Given the description of an element on the screen output the (x, y) to click on. 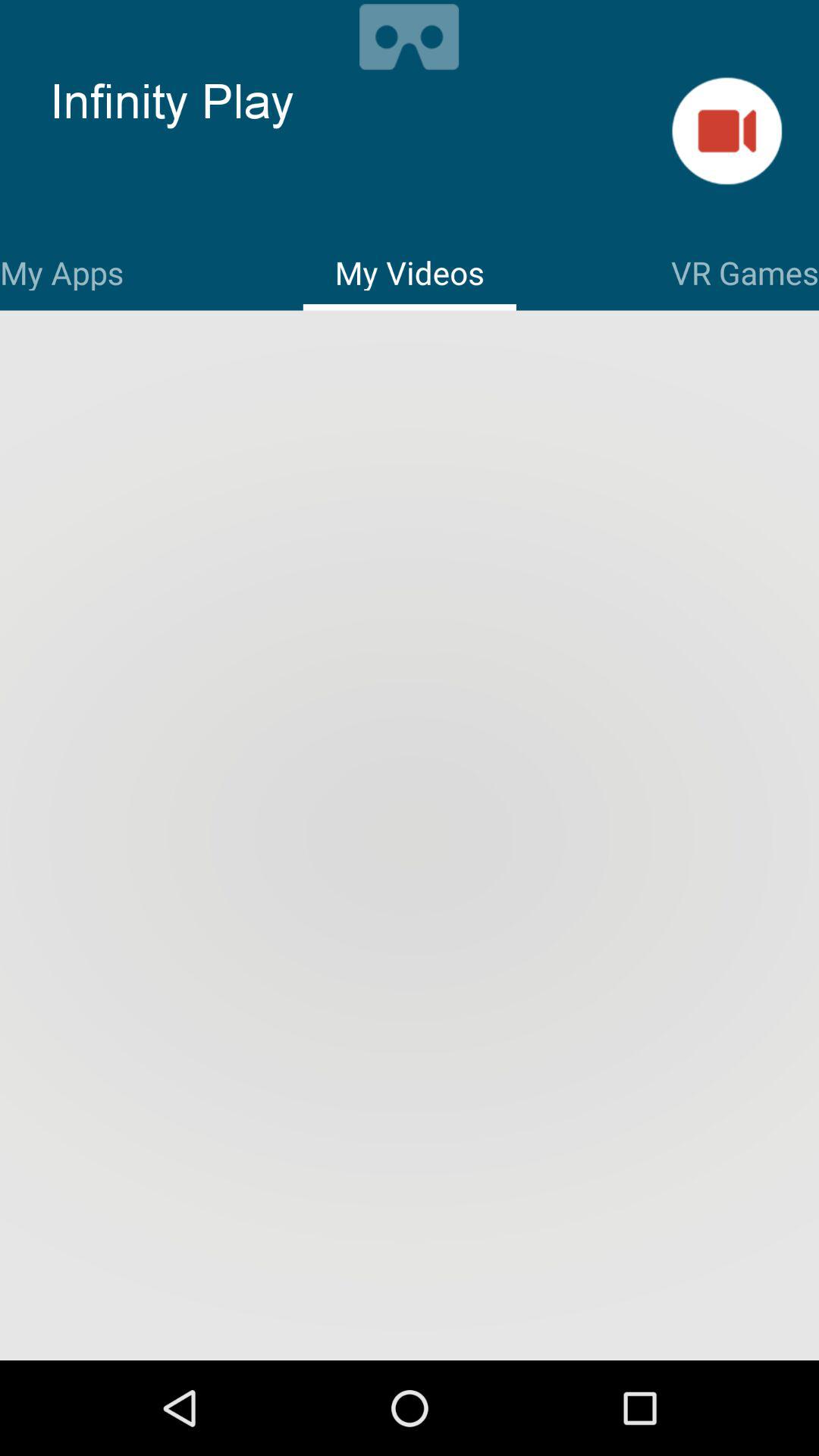
start recording (726, 130)
